Given the description of an element on the screen output the (x, y) to click on. 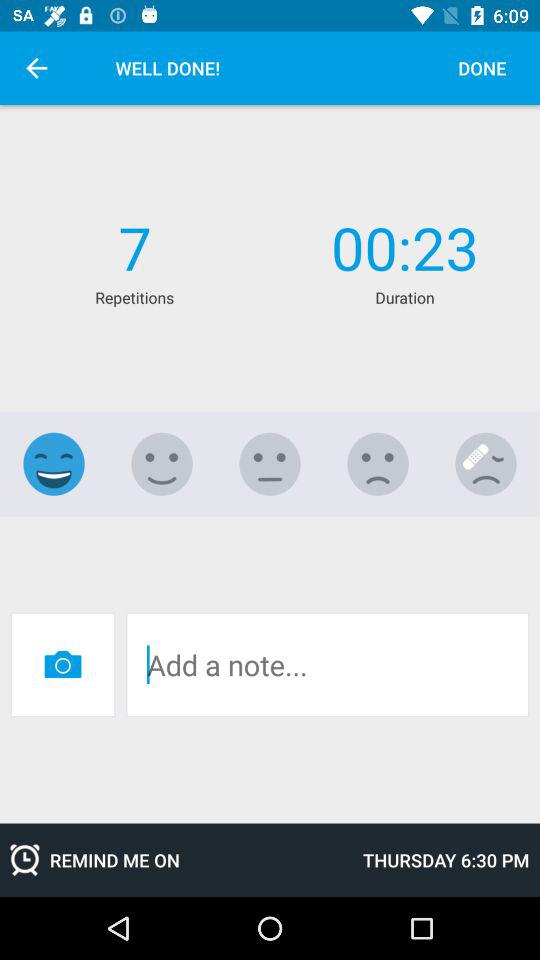
click item to the right of remind me on (446, 859)
